Given the description of an element on the screen output the (x, y) to click on. 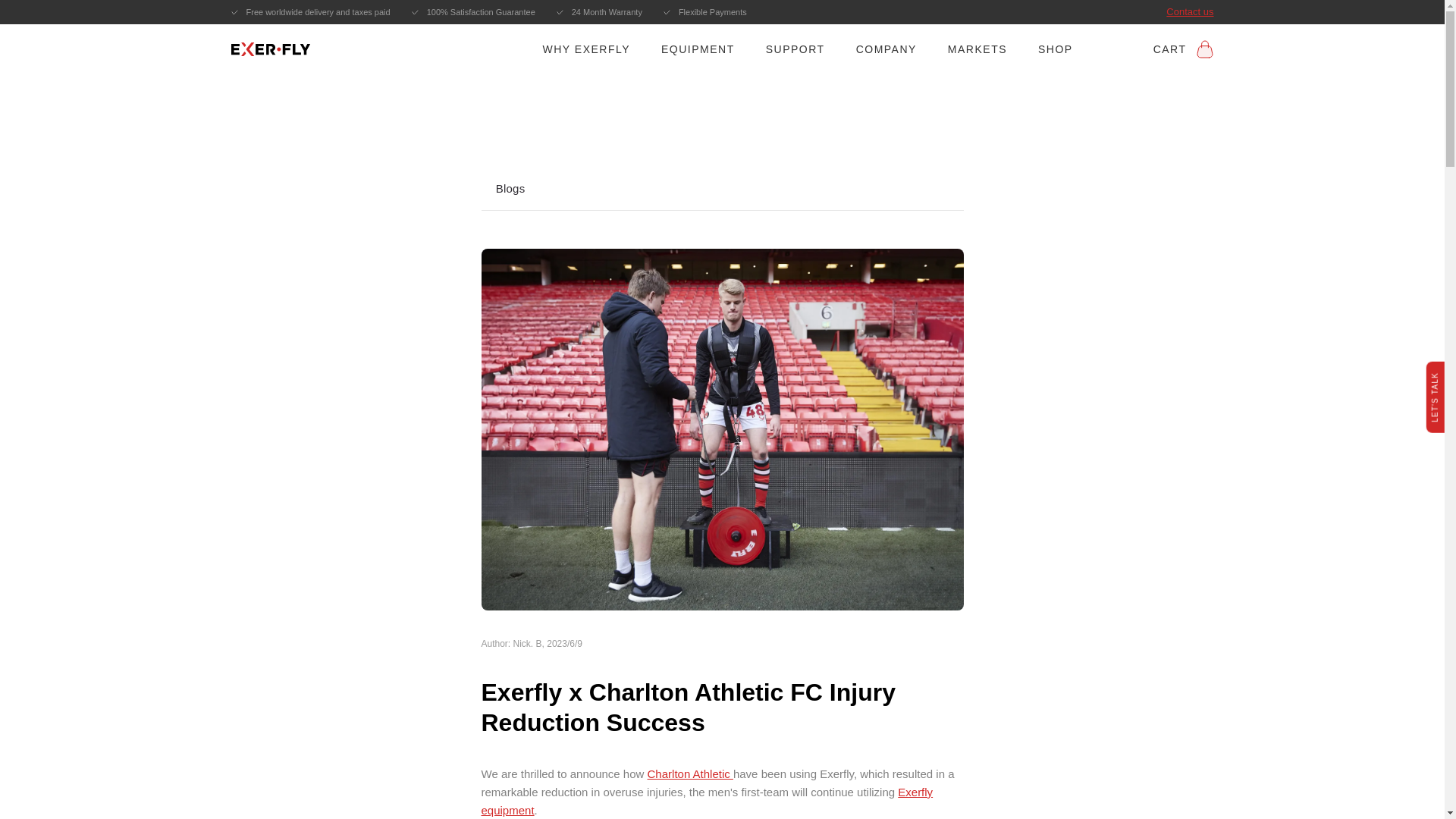
Contact us (1189, 11)
CART (1183, 48)
SHOP (1055, 48)
